Given the description of an element on the screen output the (x, y) to click on. 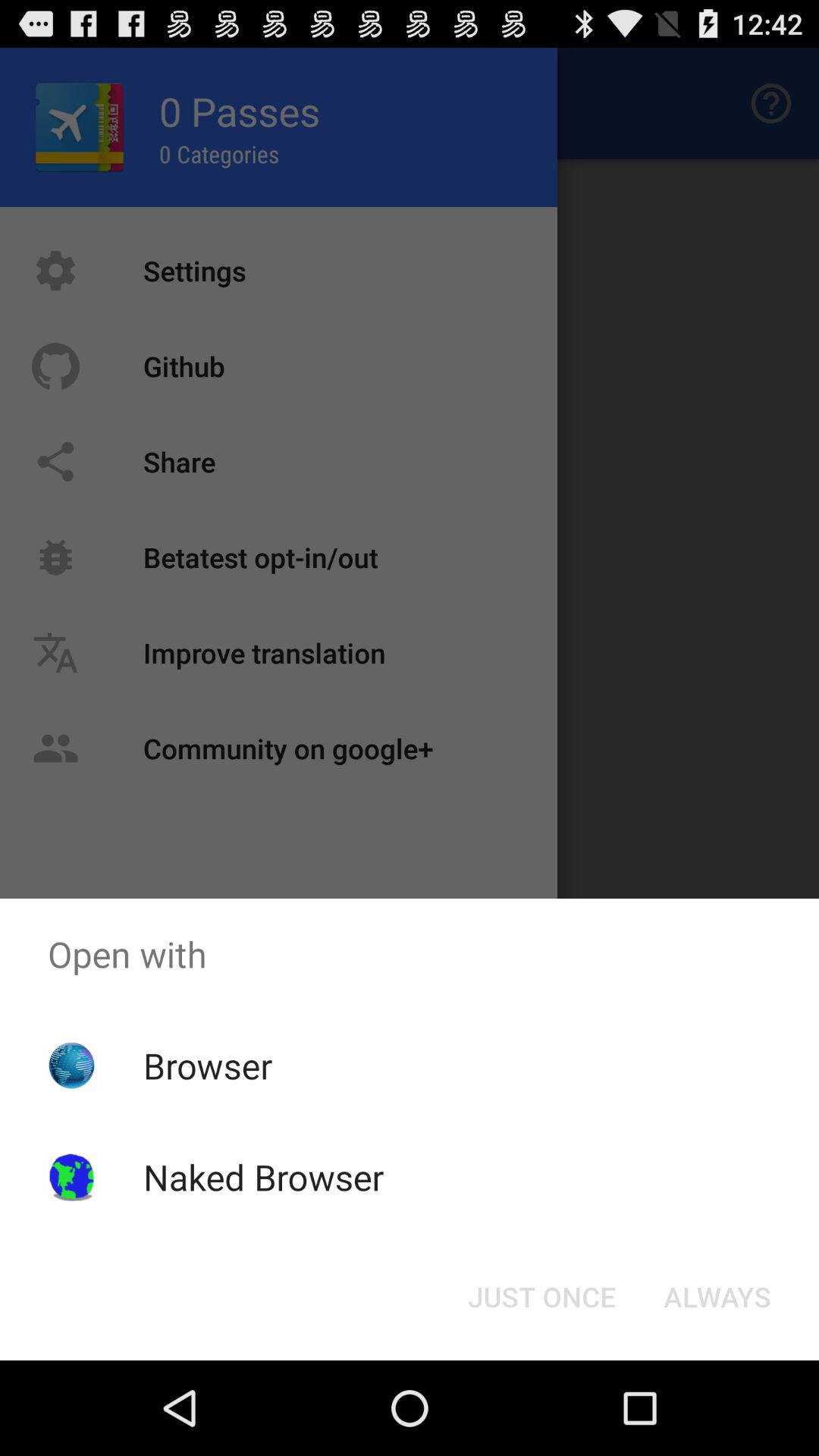
tap item at the bottom right corner (717, 1296)
